Given the description of an element on the screen output the (x, y) to click on. 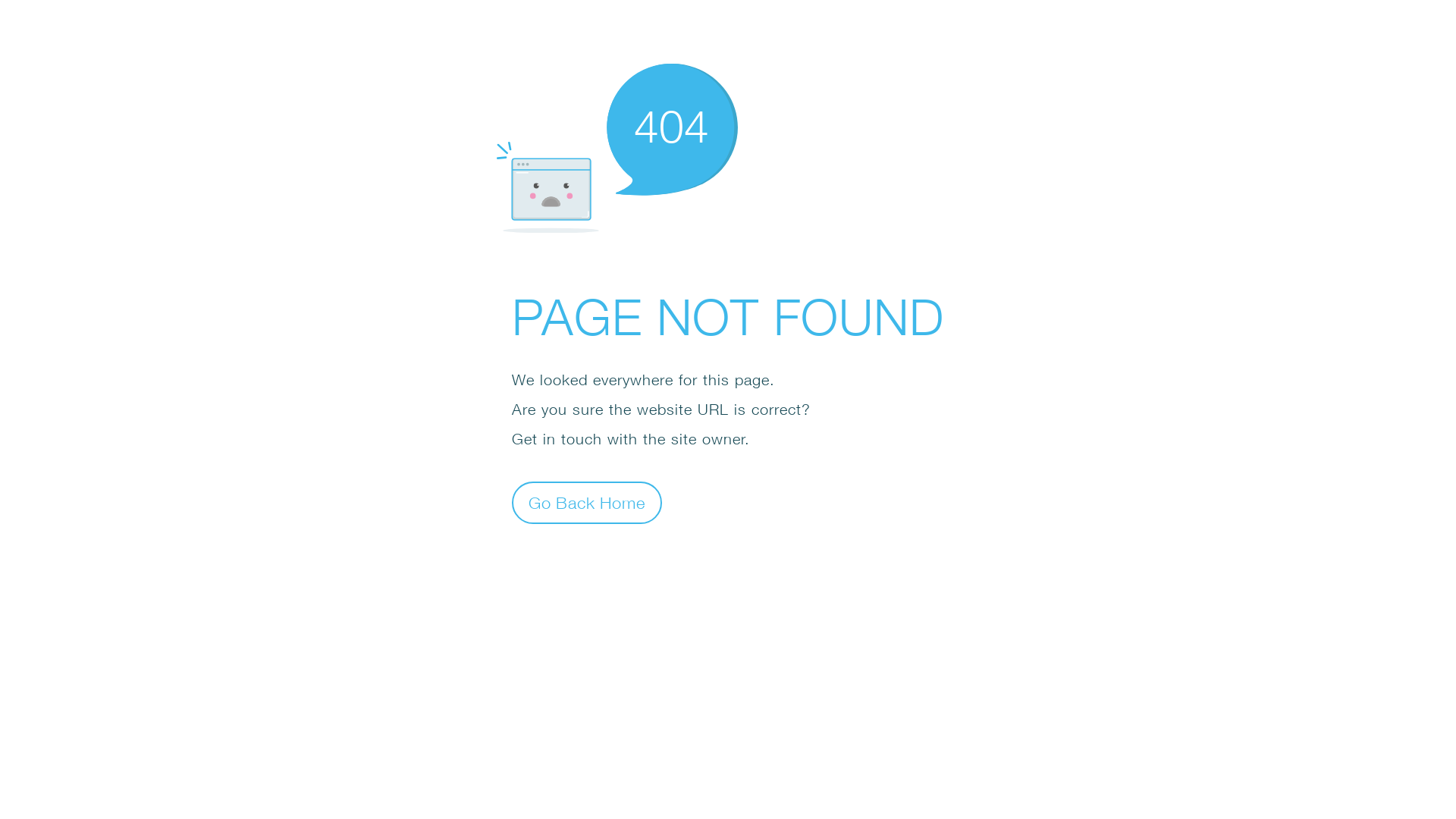
Go Back Home Element type: text (586, 502)
